Given the description of an element on the screen output the (x, y) to click on. 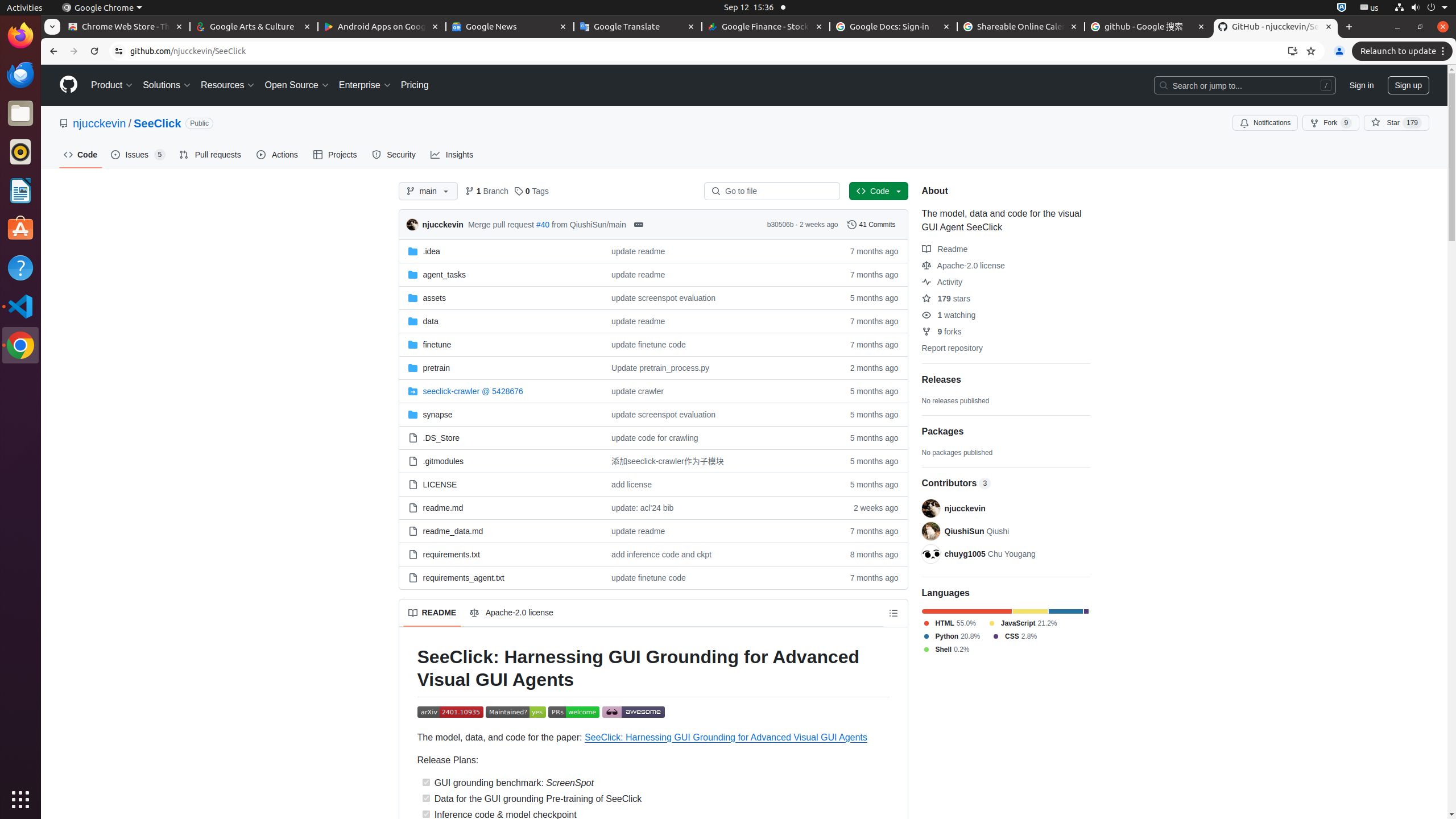
.gitmodules, (File) Element type: table-cell (500, 460)
Reload Element type: push-button (94, 50)
Ubuntu Software Element type: push-button (20, 229)
Issues 5 Element type: link (138, 154)
QiushiSun Qiushi Element type: link (976, 530)
